Given the description of an element on the screen output the (x, y) to click on. 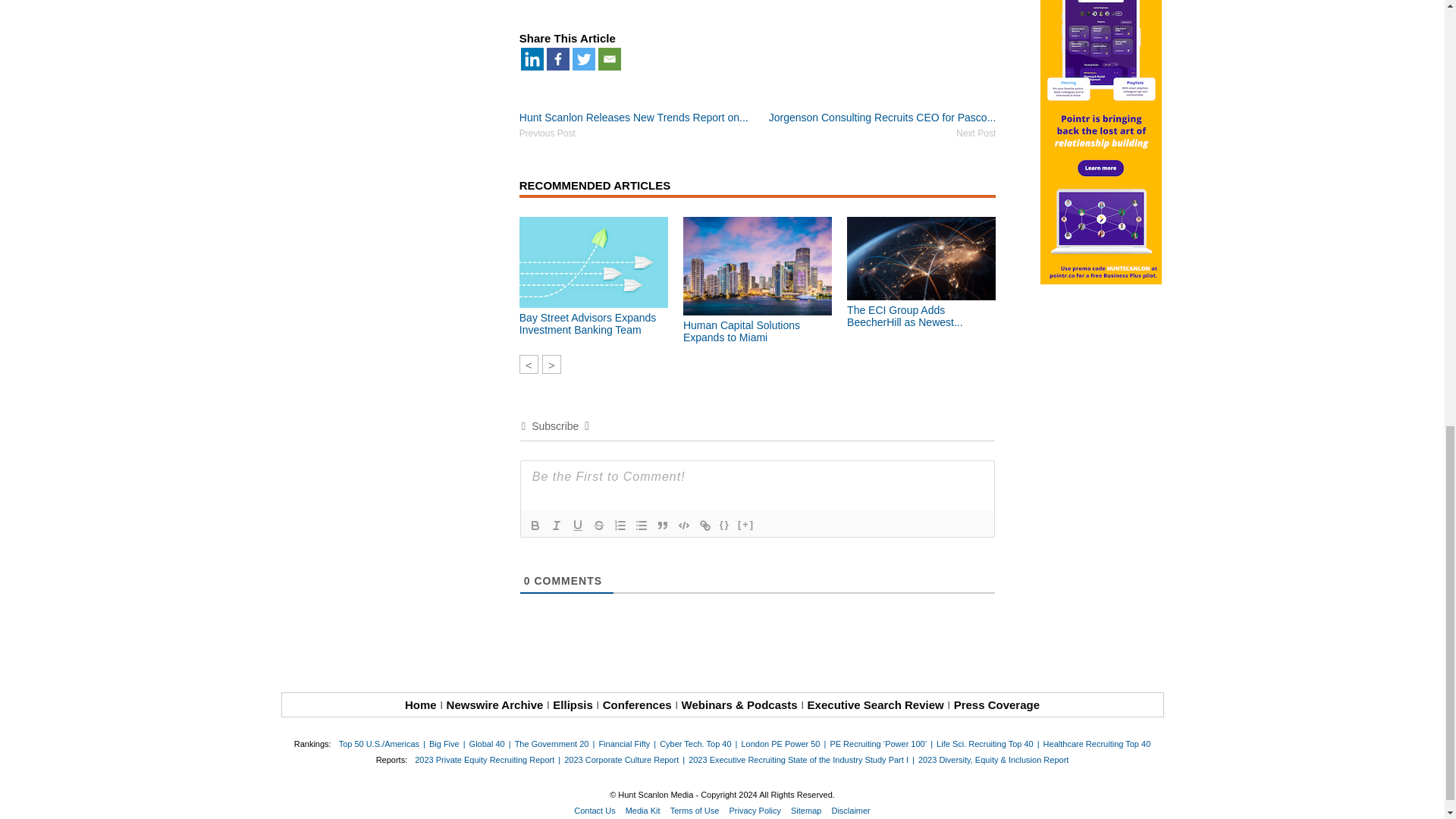
Source Code (724, 525)
Facebook (558, 57)
Code Block (683, 525)
Twitter (583, 57)
Ordered List (620, 525)
Link (705, 525)
Strike (599, 525)
Underline (577, 525)
Spoiler (745, 525)
Bold (535, 525)
Linkedin (532, 57)
Blockquote (662, 525)
Email (609, 57)
Italic (556, 525)
Unordered List (641, 525)
